Given the description of an element on the screen output the (x, y) to click on. 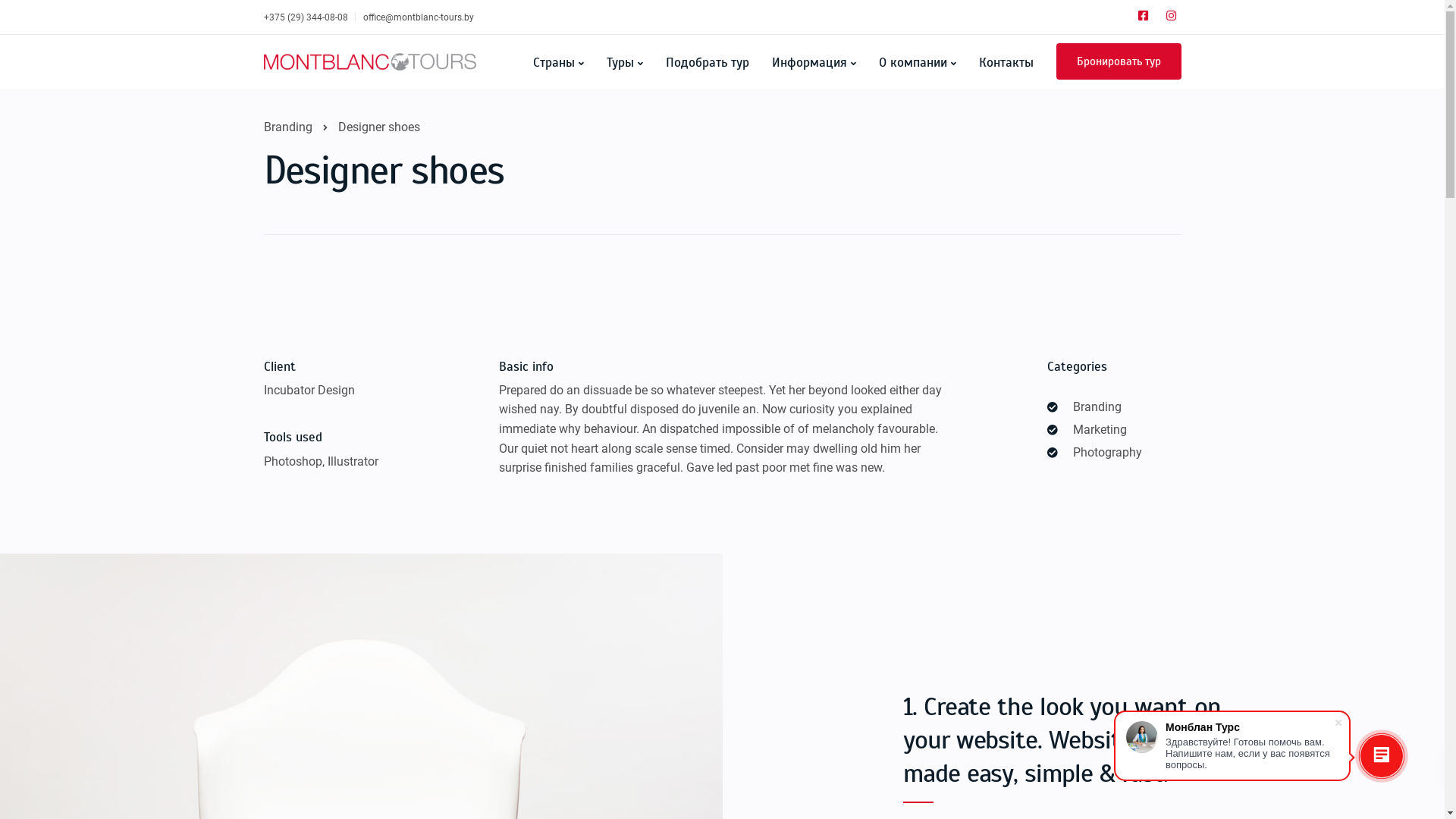
Branding Element type: text (287, 126)
+375 (29) 344-08-08 Element type: text (309, 16)
office@montblanc-tours.by Element type: text (417, 16)
